Given the description of an element on the screen output the (x, y) to click on. 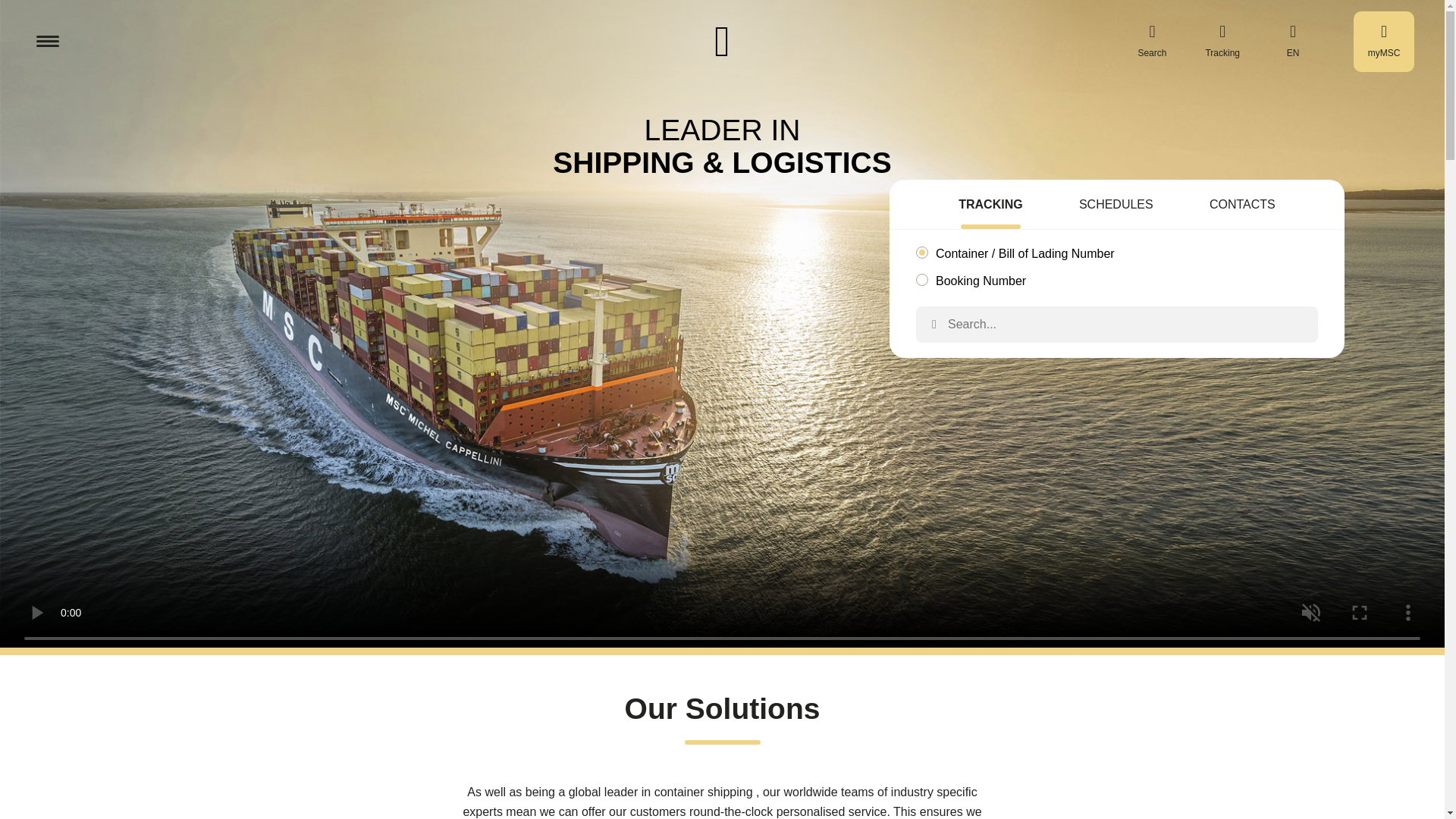
TRACKING (989, 205)
CONTACTS (1241, 205)
SCHEDULES (1116, 205)
